Given the description of an element on the screen output the (x, y) to click on. 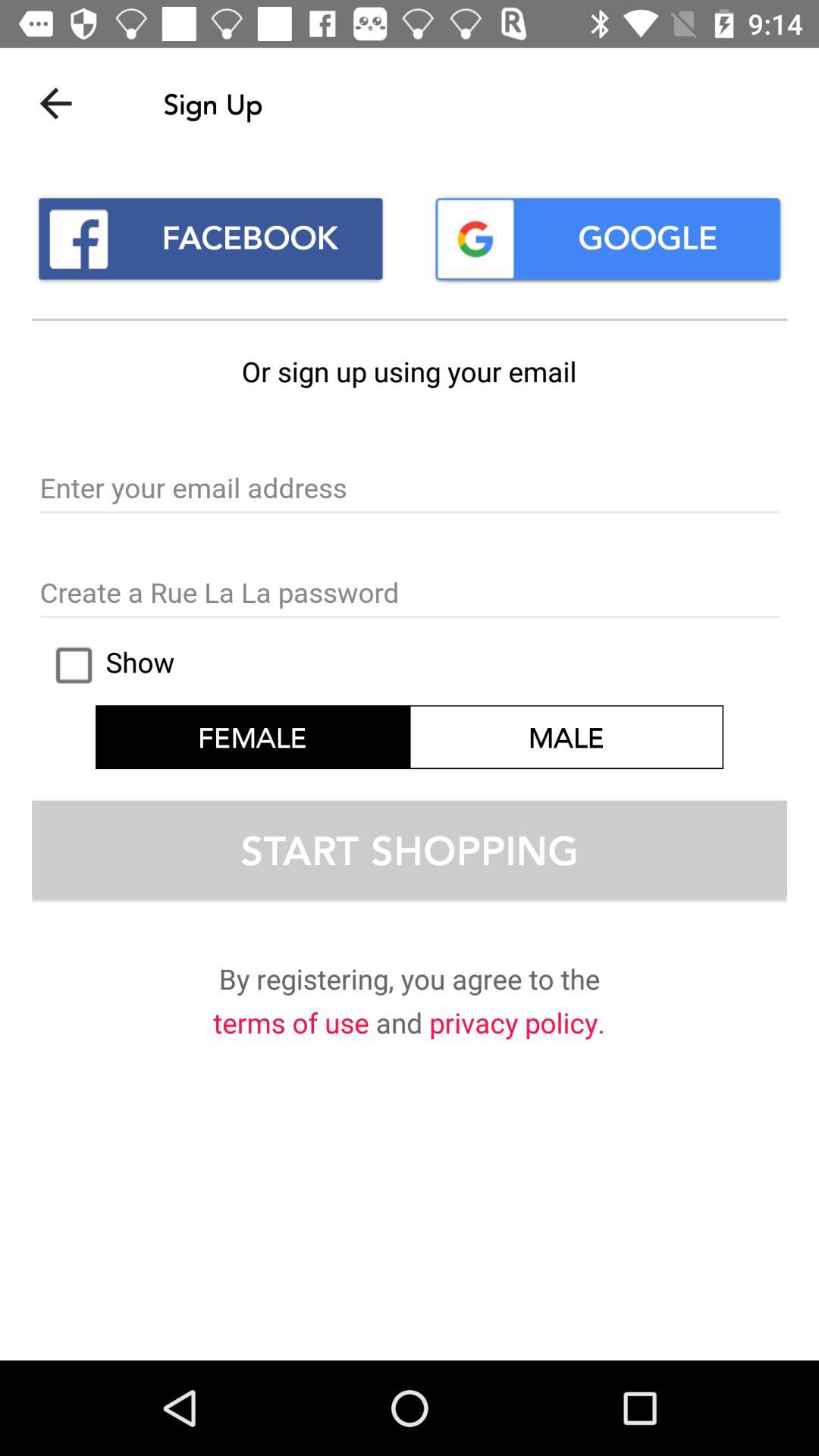
click the icon to the left of the male (108, 665)
